Given the description of an element on the screen output the (x, y) to click on. 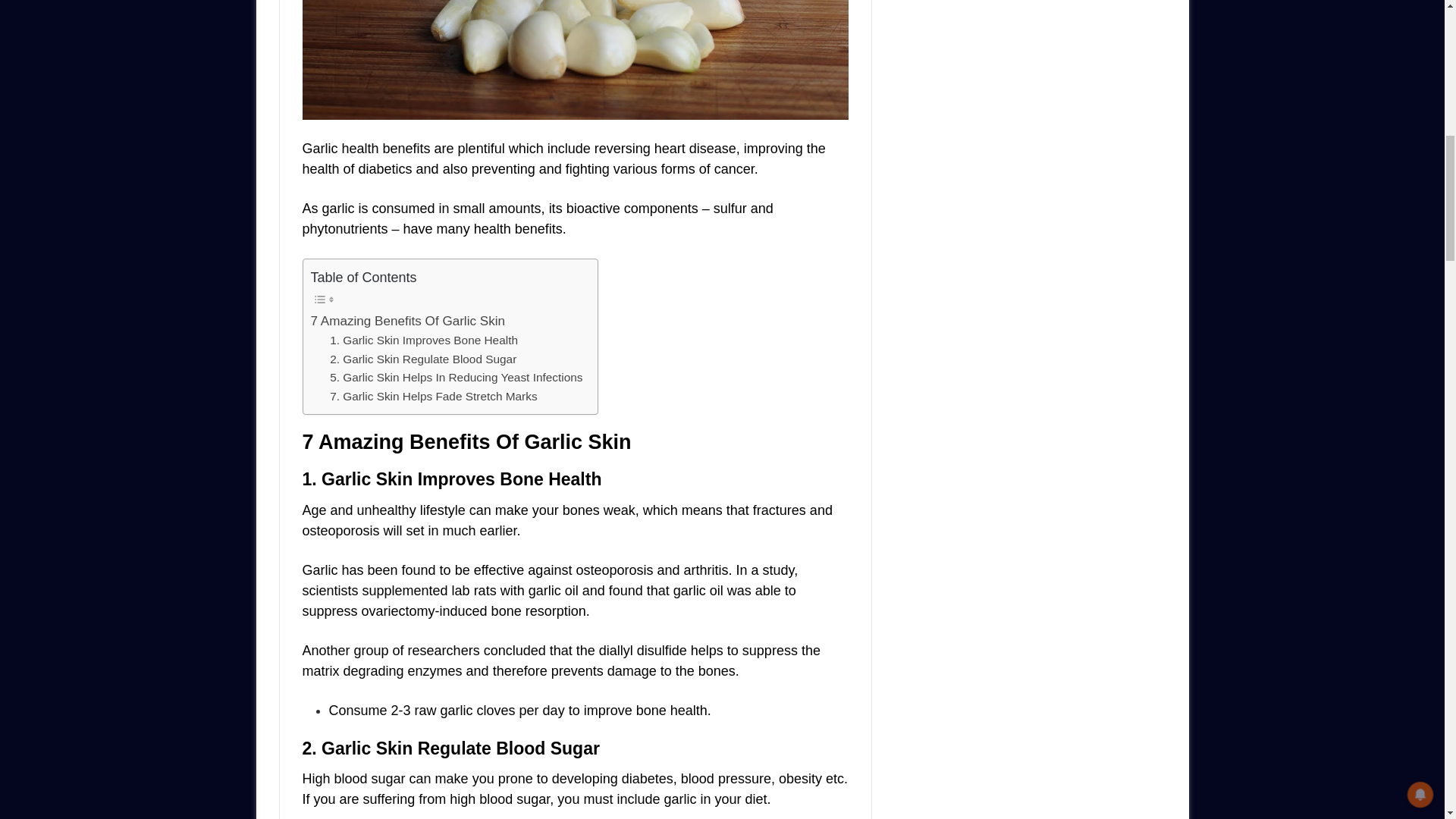
2. Garlic Skin Regulate Blood Sugar (423, 359)
1. Garlic Skin Improves Bone Health (424, 340)
1. Garlic Skin Improves Bone Health (424, 340)
5. Garlic Skin Helps In Reducing Yeast Infections (456, 377)
7 Amazing Benefits Of Garlic Skin (408, 321)
5. Garlic Skin Helps In Reducing Yeast Infections (456, 377)
2. Garlic Skin Regulate Blood Sugar (423, 359)
7. Garlic Skin Helps Fade Stretch Marks (433, 396)
7 Amazing Benefits Of Garlic Skin (408, 321)
7. Garlic Skin Helps Fade Stretch Marks (433, 396)
